Given the description of an element on the screen output the (x, y) to click on. 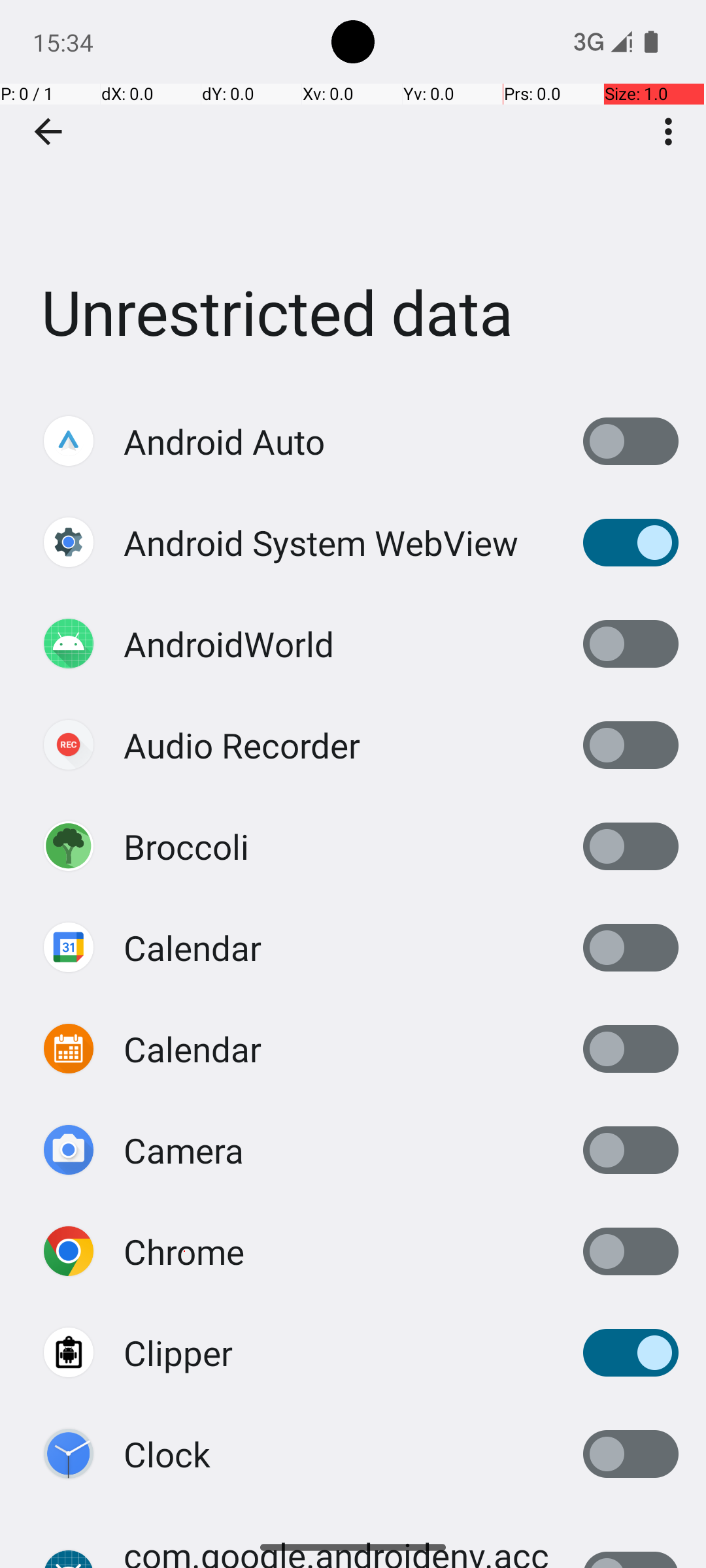
Unrestricted data Element type: android.widget.FrameLayout (353, 195)
Android Auto Element type: android.widget.TextView (223, 441)
Android System WebView Element type: android.widget.TextView (320, 542)
AndroidWorld Element type: android.widget.TextView (228, 643)
Camera Element type: android.widget.TextView (183, 1150)
Clipper Element type: android.widget.TextView (177, 1352)
